Given the description of an element on the screen output the (x, y) to click on. 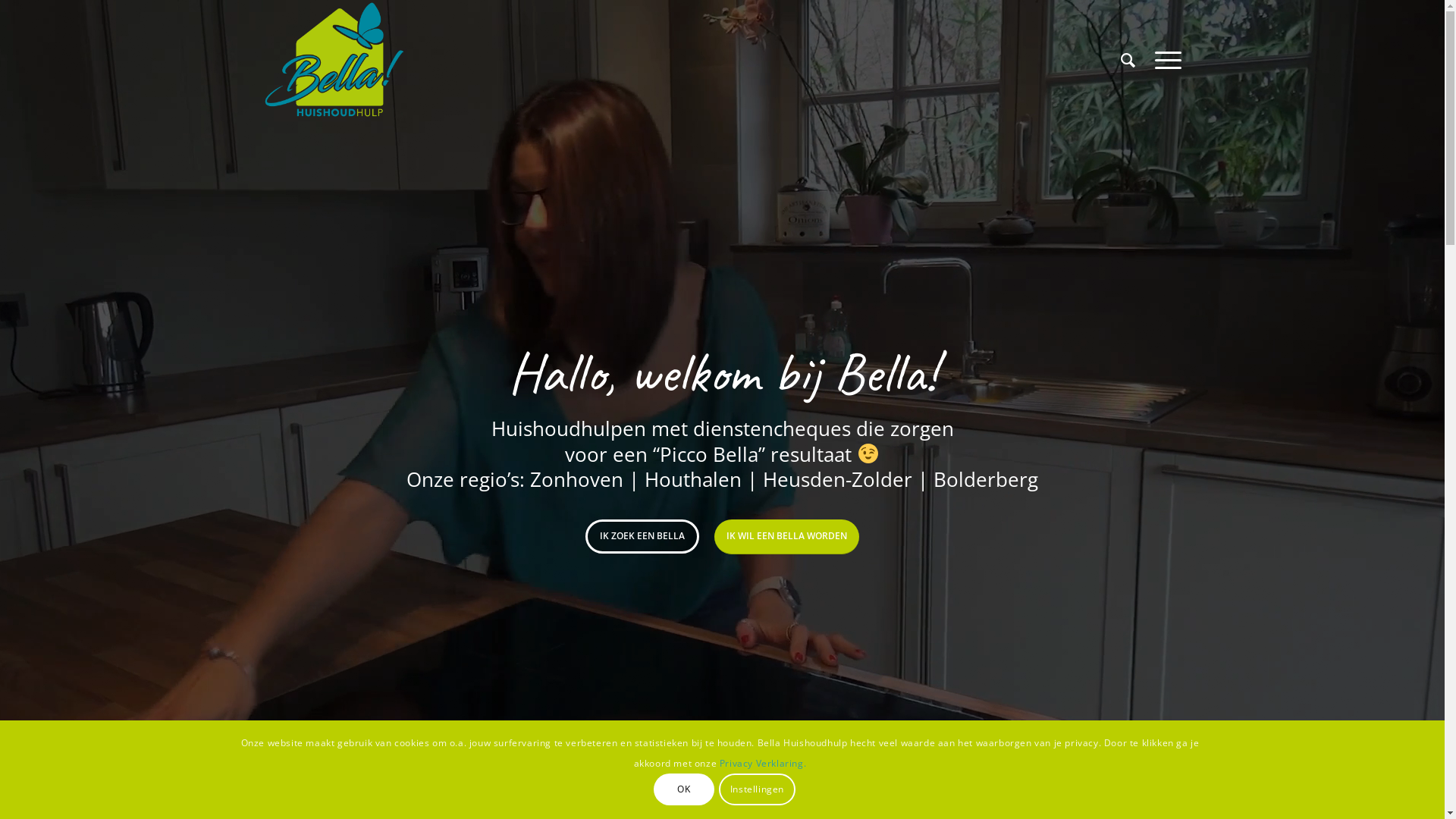
Instellingen Element type: text (757, 789)
OK Element type: text (683, 789)
IK WIL EEN BELLA WORDEN Element type: text (786, 536)
Privacy Verklaring. Element type: text (762, 762)
IK ZOEK EEN BELLA Element type: text (642, 535)
